Given the description of an element on the screen output the (x, y) to click on. 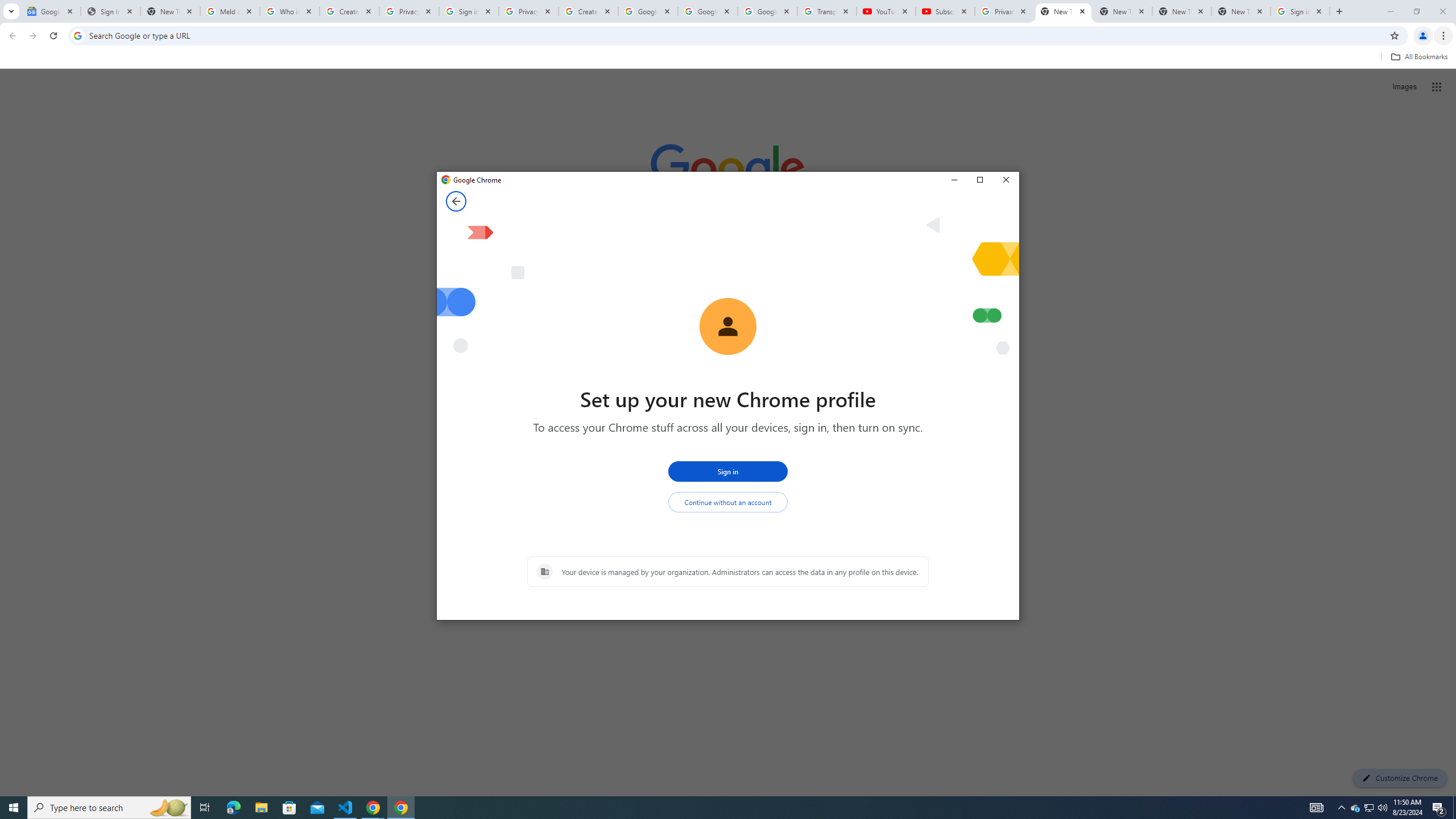
User Promoted Notification Area (1368, 807)
Sign in - Google Accounts (468, 11)
Google Chrome - 2 running windows (373, 807)
Task View (204, 807)
Action Center, 2 new notifications (1439, 807)
Show desktop (1454, 807)
Type here to search (108, 807)
Subscriptions - YouTube (944, 11)
